Given the description of an element on the screen output the (x, y) to click on. 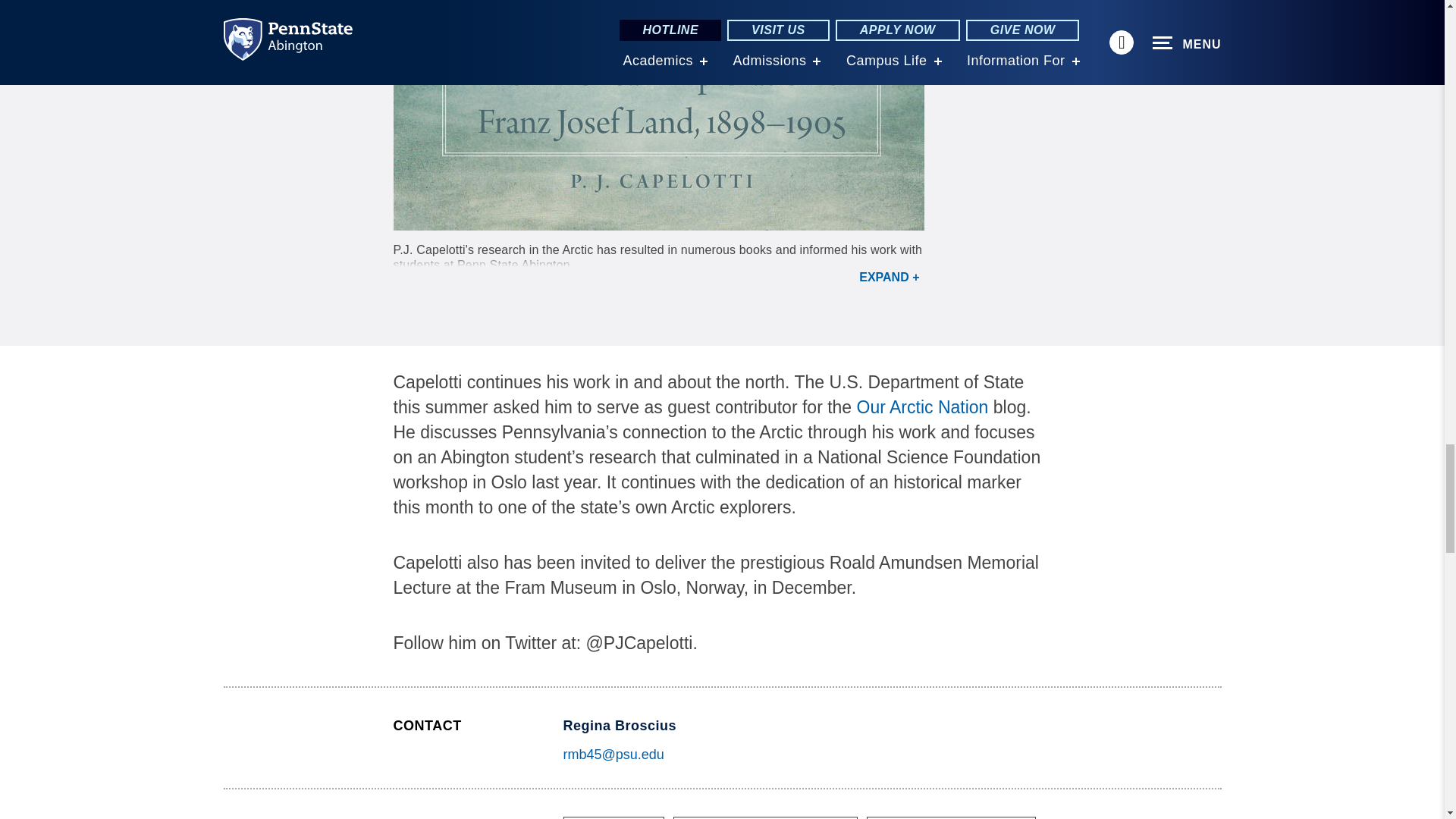
Content tagged with Earth and Environment (764, 817)
Content tagged with Faculty Achievement (950, 817)
Content tagged with Academics (612, 817)
